Given the description of an element on the screen output the (x, y) to click on. 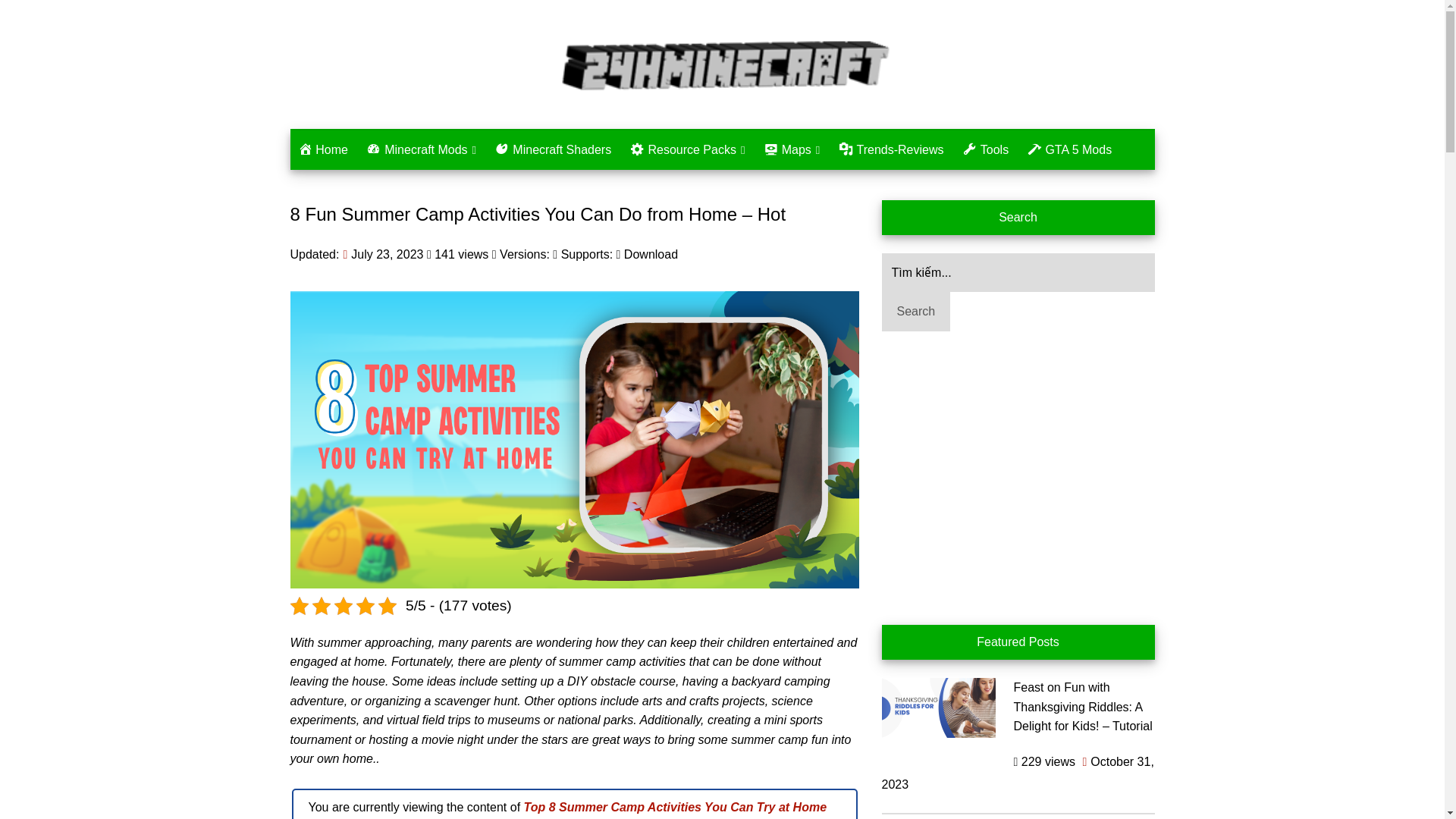
Minecraft Mods (420, 149)
Maps (791, 149)
Home (322, 149)
Resource Packs (687, 149)
Home (322, 149)
Minecraft Shaders (553, 149)
Resource Packs (687, 149)
Trends-Reviews (891, 149)
Search (915, 311)
Minecraft Mods (420, 149)
Search (915, 311)
Minecraft Shaders (553, 149)
